Given the description of an element on the screen output the (x, y) to click on. 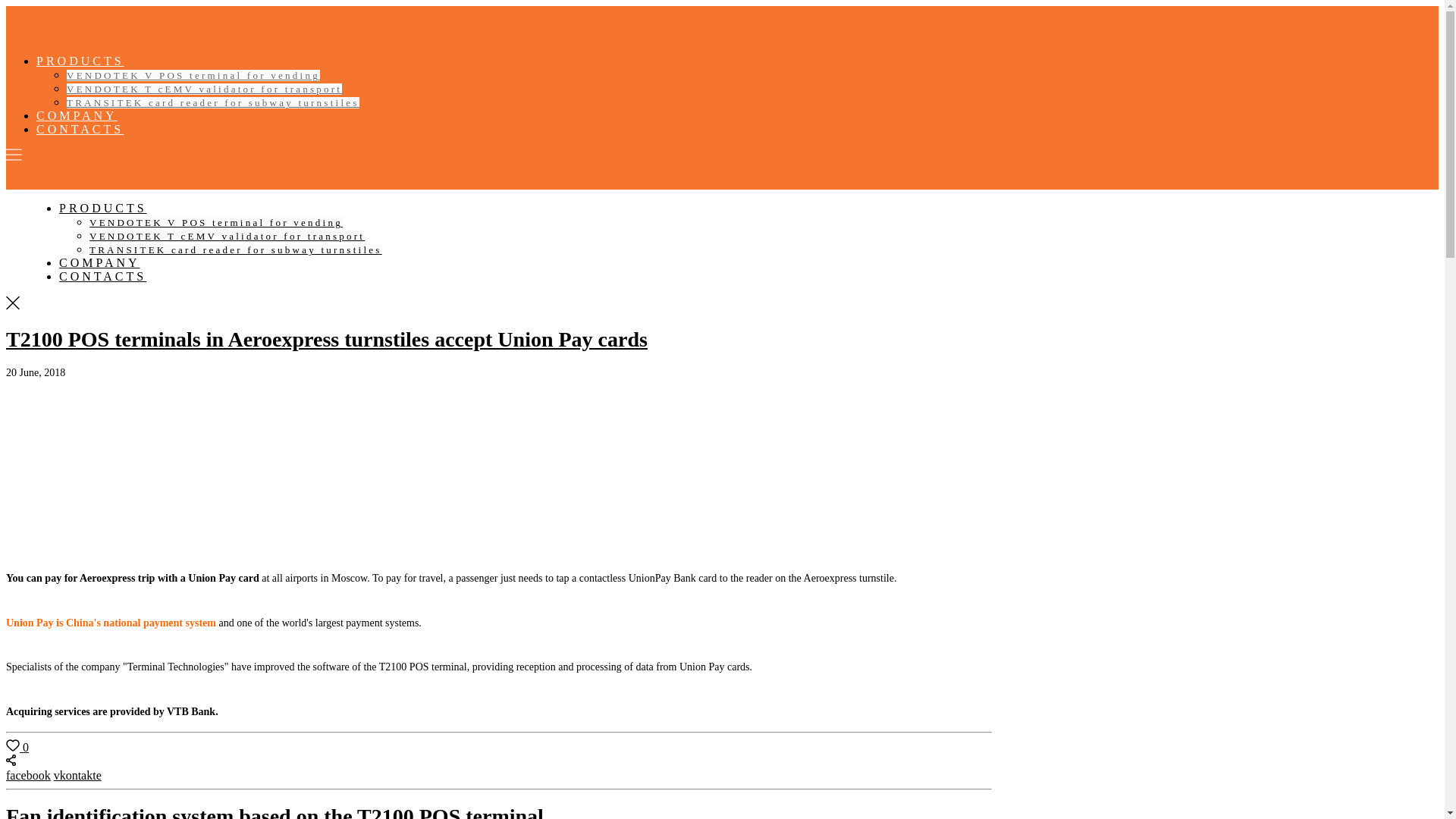
CONTACTS (103, 276)
VENDOTEK T cEMV validator for transport (226, 235)
VENDOTEK V POS terminal for vending (215, 222)
vkontakte (77, 775)
PRODUCTS (79, 60)
VENDOTEK T cEMV validator for transport (204, 89)
PRODUCTS (103, 207)
CONTACTS (79, 128)
0 (17, 747)
TRANSITEK card reader for subway turnstiles (234, 249)
Fan identification system based on the T2100 POS terminal (274, 811)
TRANSITEK card reader for subway turnstiles (212, 102)
COMPANY (99, 262)
